Given the description of an element on the screen output the (x, y) to click on. 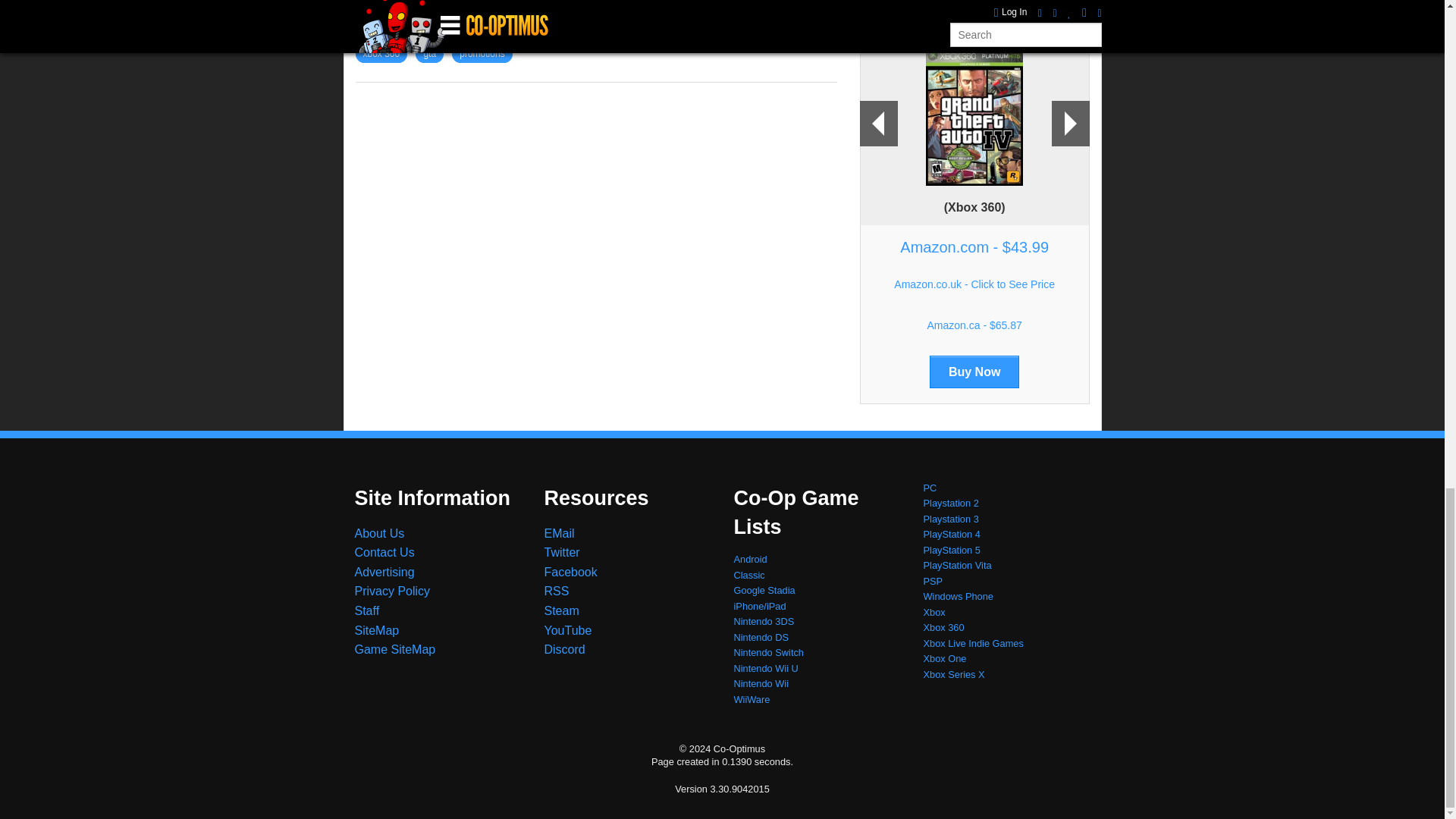
Join our Steam Group! (561, 610)
Advertising rates and traffic numbers. (384, 571)
Our current staff and bios. (367, 610)
